Given the description of an element on the screen output the (x, y) to click on. 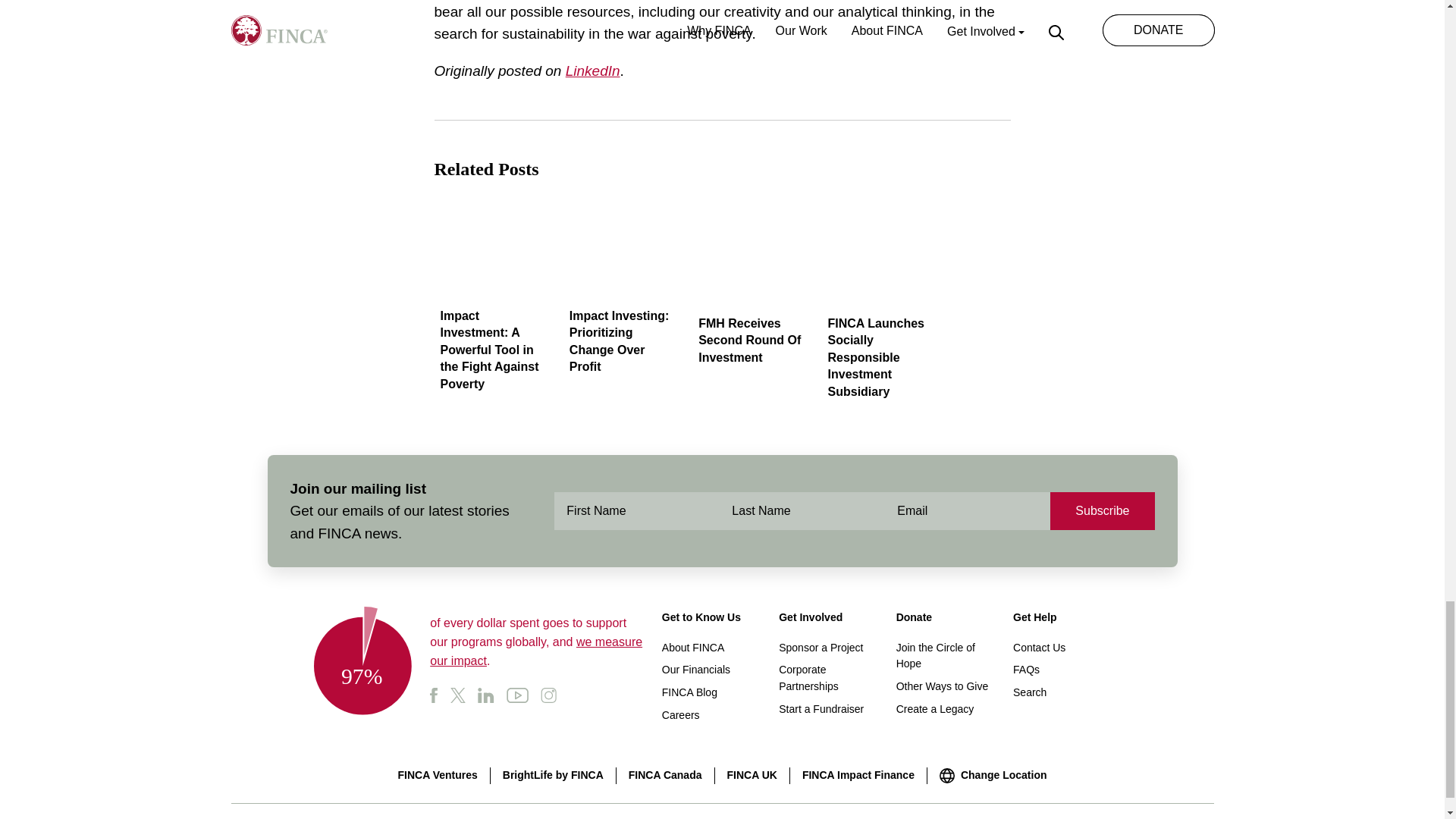
linkedin (486, 694)
we measure our impact (535, 651)
instagram (548, 694)
facebook-logo (439, 694)
Sponsor a Project (820, 647)
instagram (554, 694)
Our Financials (696, 669)
Get to Know Us (701, 616)
Subscribe (1101, 510)
LinkedIn (593, 70)
